Given the description of an element on the screen output the (x, y) to click on. 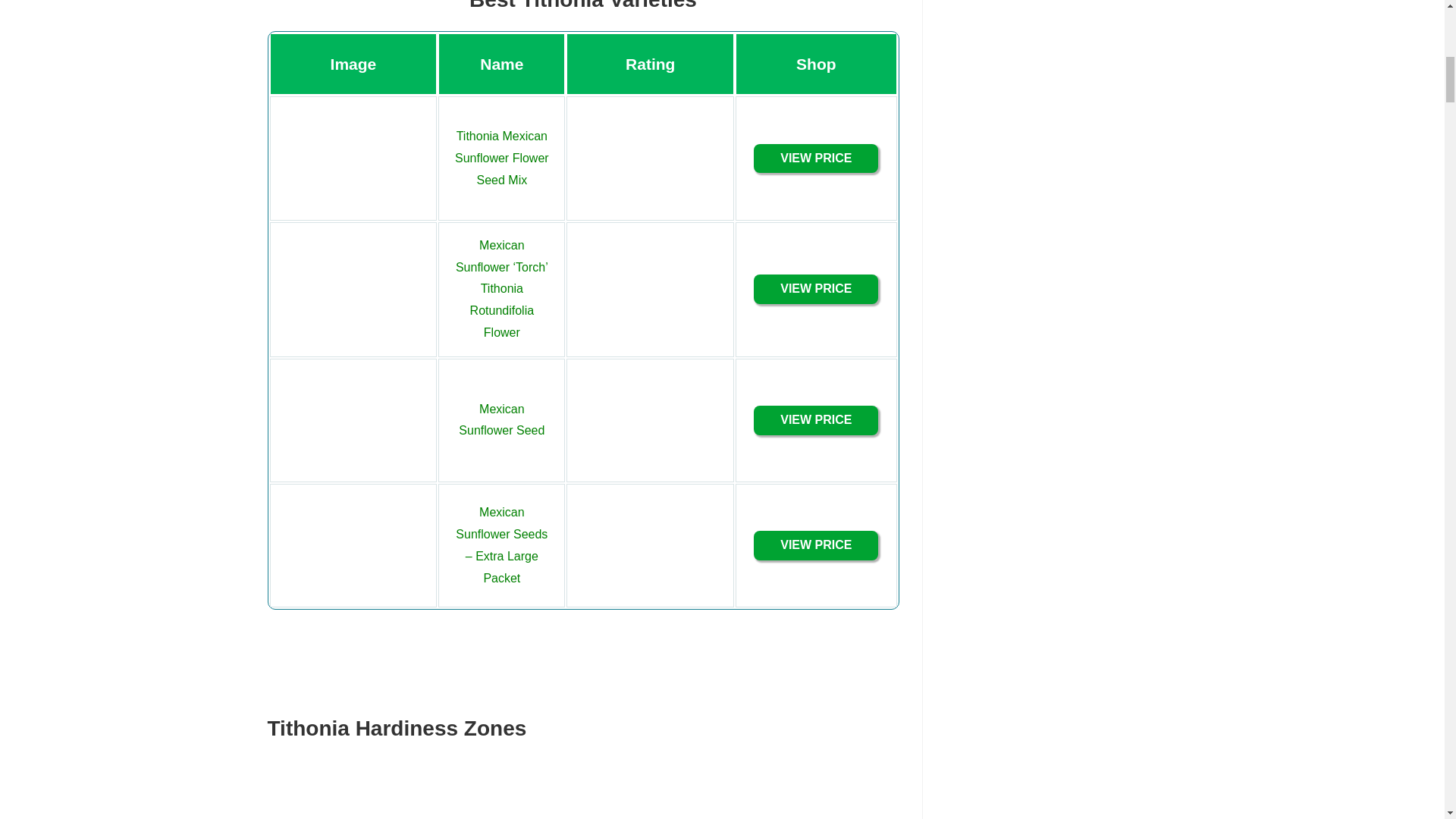
VIEW PRICE (816, 289)
VIEW PRICE (816, 158)
Tithonia Mexican Sunflower Flower Seed Mix (501, 157)
VIEW PRICE (816, 420)
Mexican Sunflower Seed (501, 419)
VIEW PRICE (816, 545)
